Given the description of an element on the screen output the (x, y) to click on. 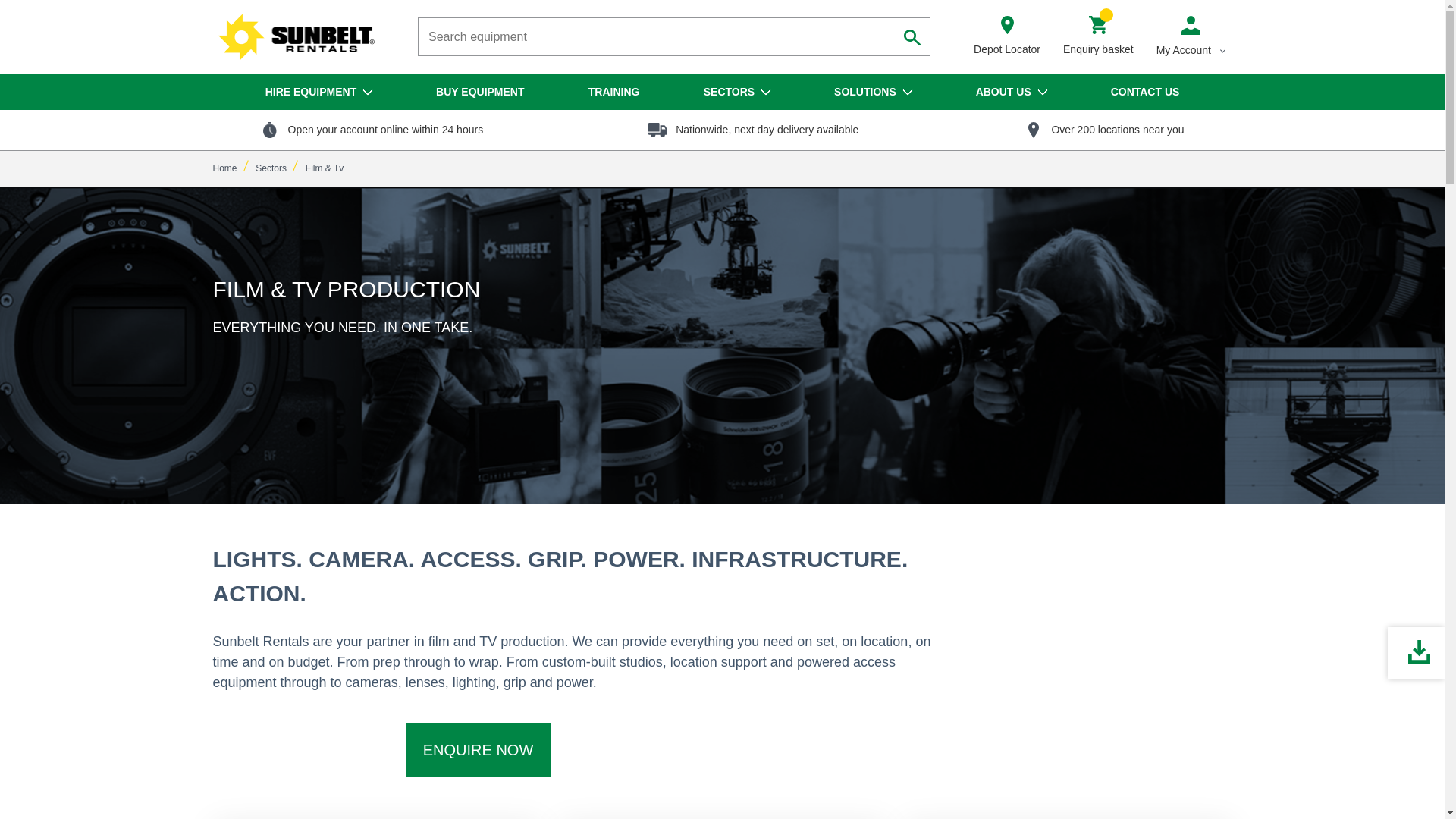
Depot Locator (1007, 36)
HIRE EQUIPMENT (318, 91)
Enquiry basket (1098, 36)
Search (911, 36)
